Given the description of an element on the screen output the (x, y) to click on. 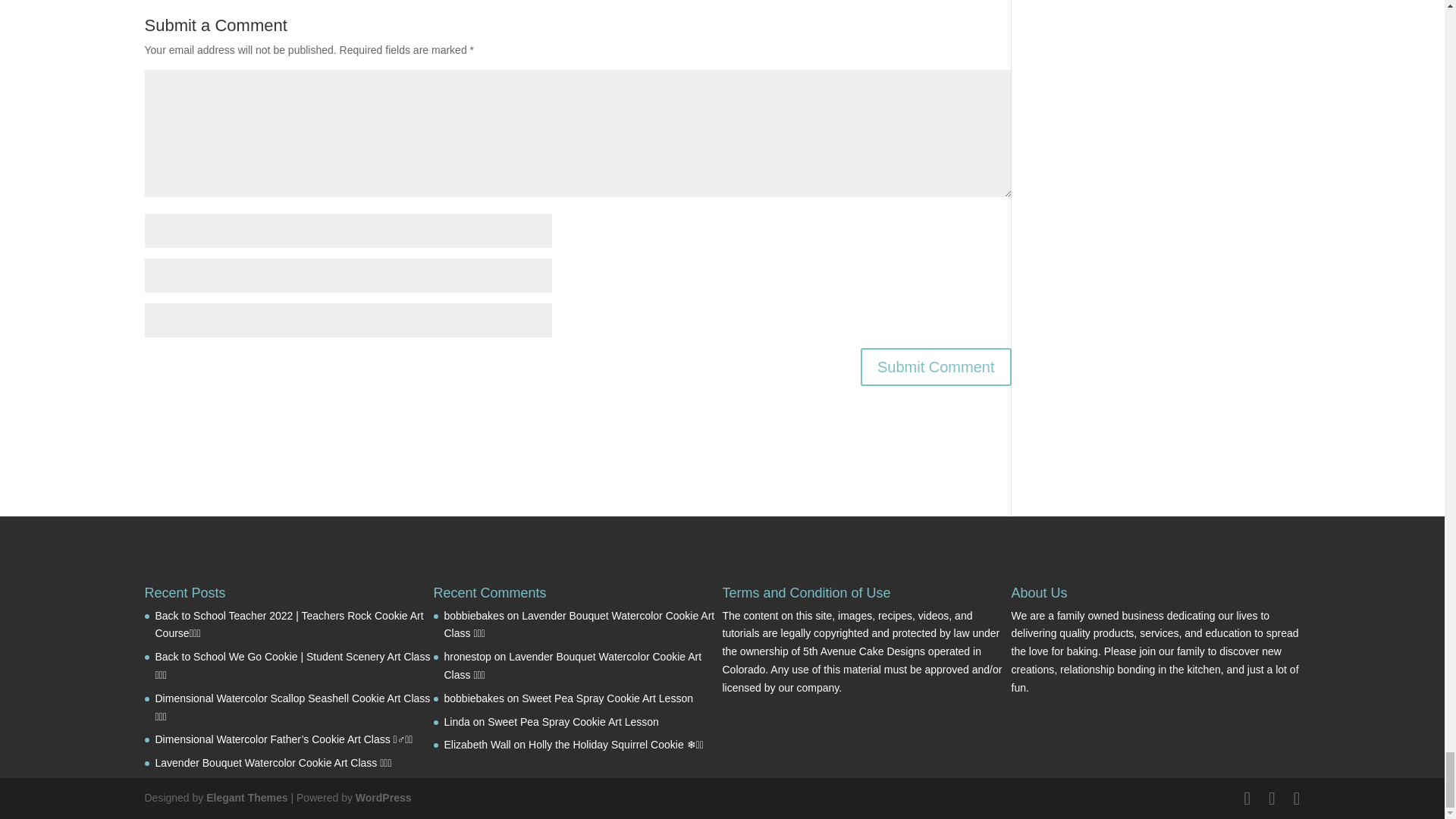
Submit Comment (935, 366)
